Given the description of an element on the screen output the (x, y) to click on. 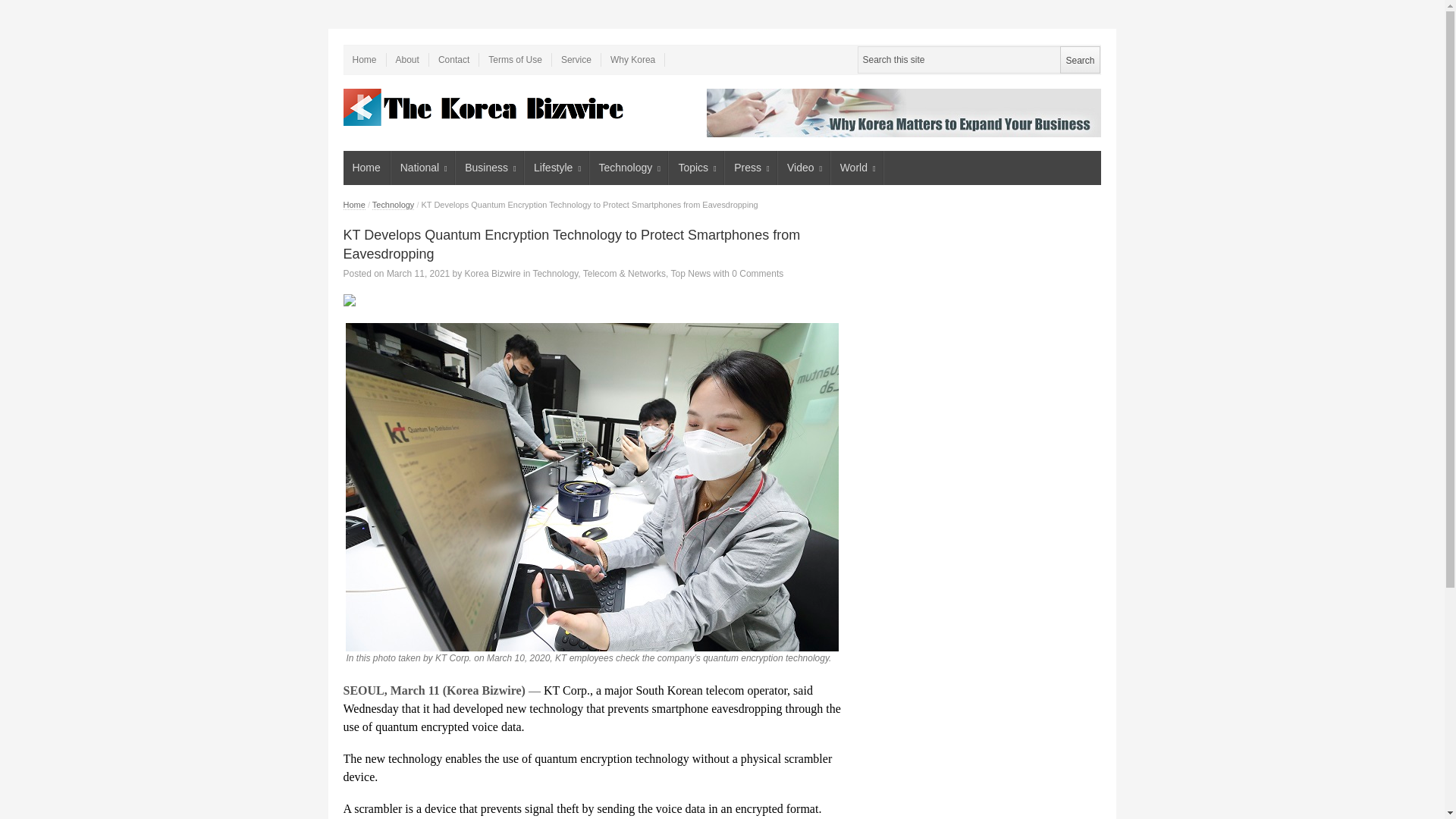
View all posts by Korea Bizwire (492, 273)
Contact (454, 59)
Home (363, 59)
Business (489, 167)
Service (576, 59)
View all posts in Technology (393, 204)
Search (1079, 59)
Terms of Use (515, 59)
View all posts in Top News (691, 273)
Home (366, 167)
